Given the description of an element on the screen output the (x, y) to click on. 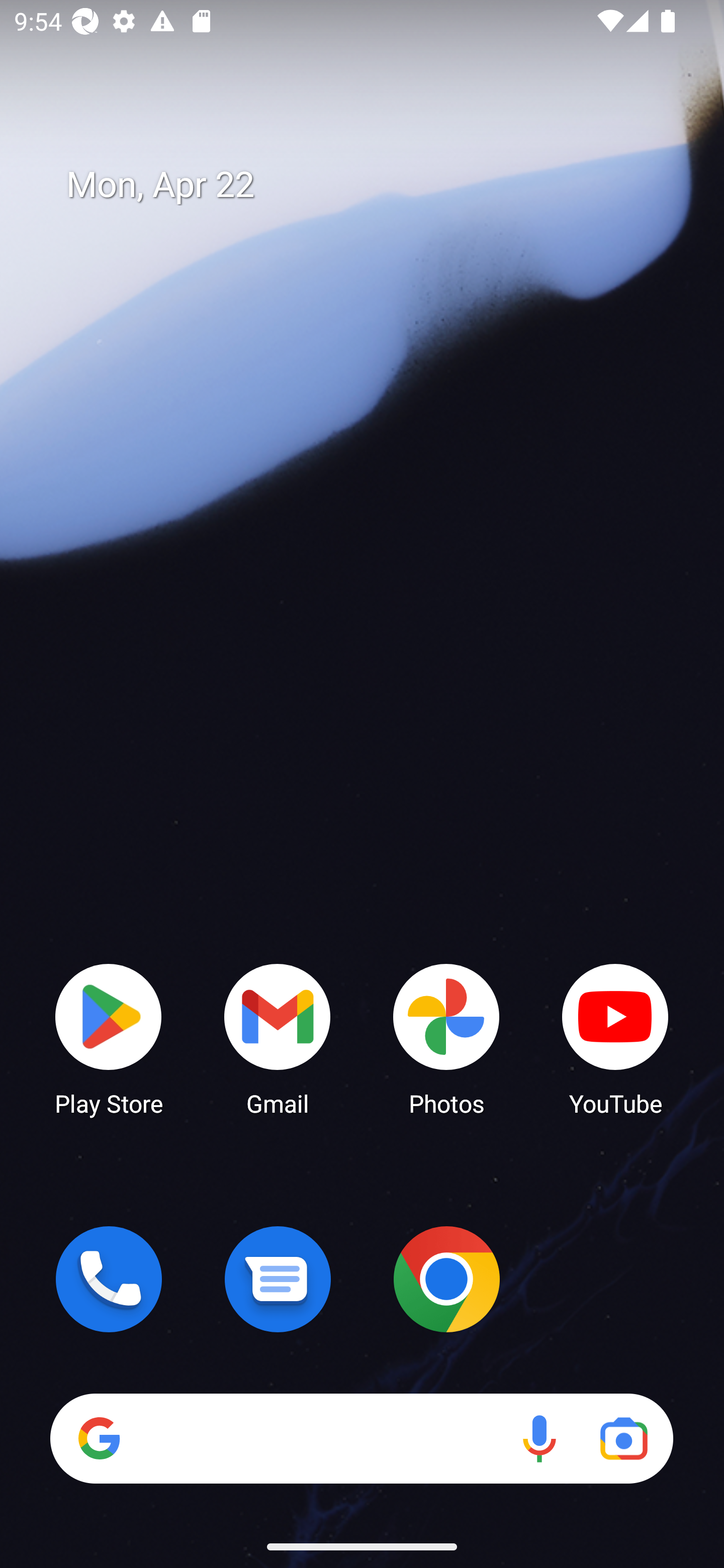
Mon, Apr 22 (375, 184)
Play Store (108, 1038)
Gmail (277, 1038)
Photos (445, 1038)
YouTube (615, 1038)
Phone (108, 1279)
Messages (277, 1279)
Chrome (446, 1279)
Search Voice search Google Lens (361, 1438)
Voice search (539, 1438)
Google Lens (623, 1438)
